Given the description of an element on the screen output the (x, y) to click on. 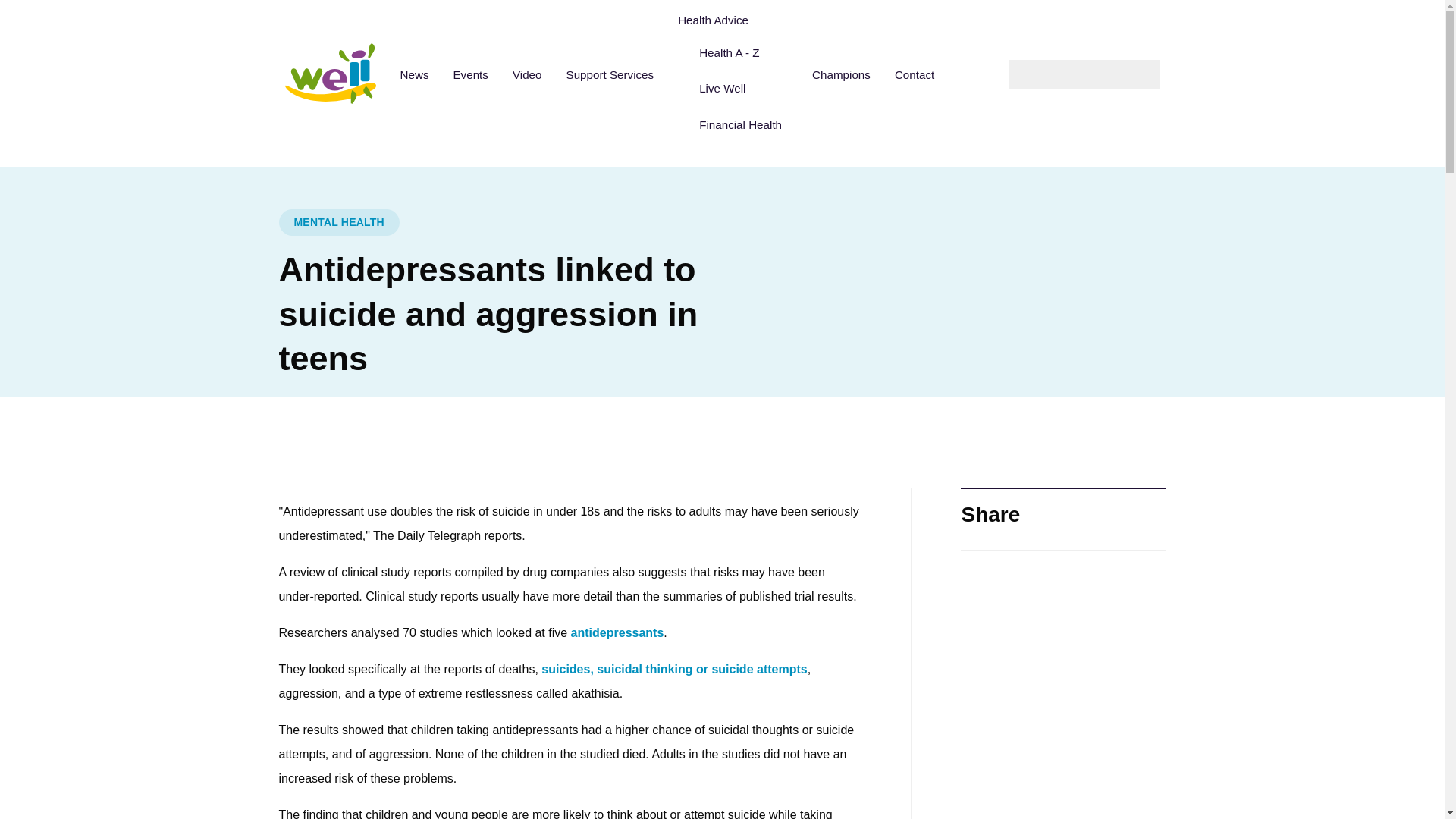
Live Well (740, 88)
News (414, 73)
Video (527, 73)
Events (470, 73)
Health Advice (732, 20)
Champions (840, 73)
suicides, suicidal thinking or suicide attempts (673, 668)
Financial Health (740, 124)
Health A - Z (740, 52)
antidepressants (616, 632)
